Given the description of an element on the screen output the (x, y) to click on. 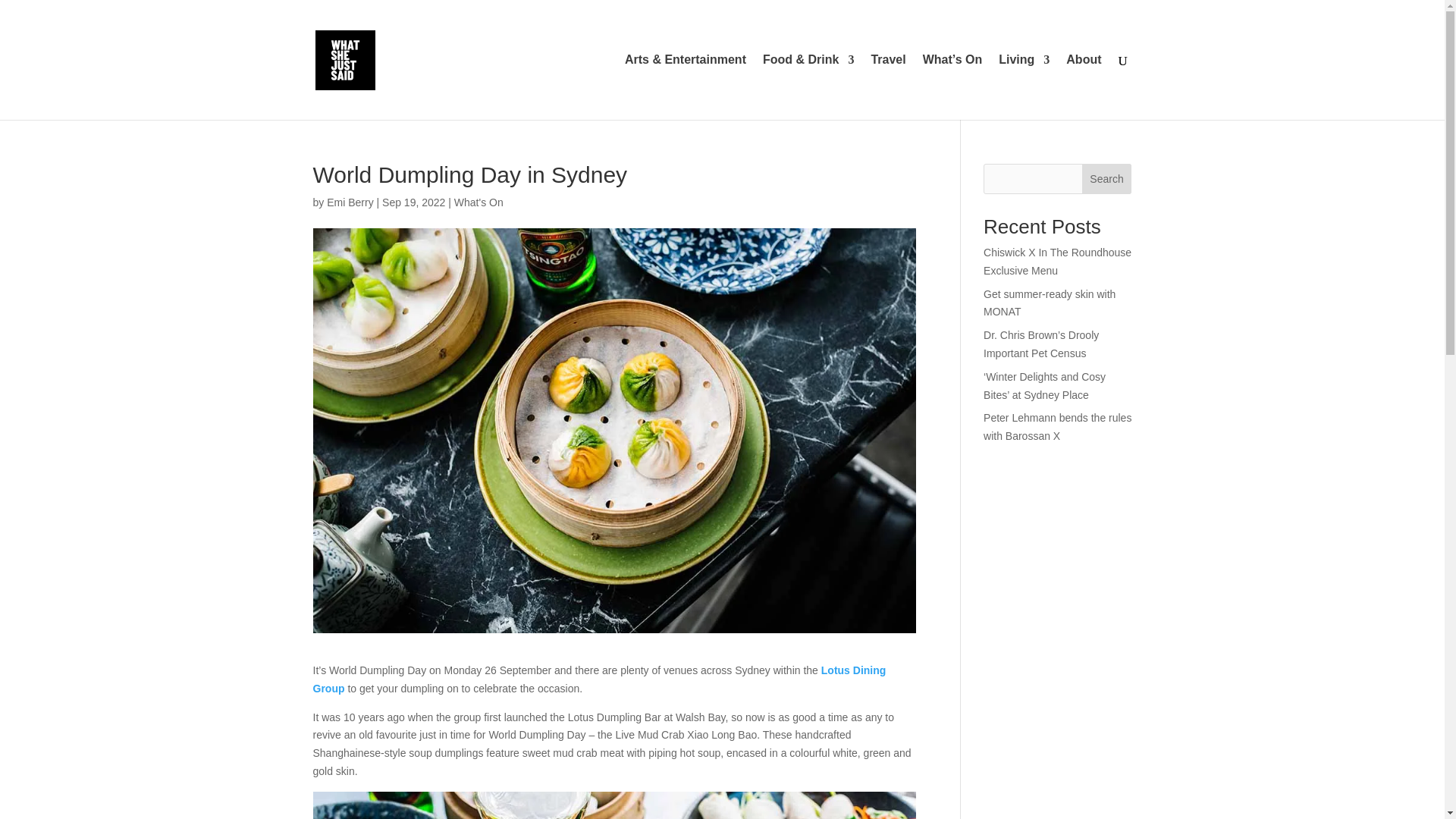
Emi Berry (349, 202)
Posts by Emi Berry (349, 202)
Lotus Dining Group (599, 679)
What's On (478, 202)
Peter Lehmann bends the rules with Barossan X (1057, 426)
Chiswick X In The Roundhouse Exclusive Menu (1057, 261)
Get summer-ready skin with MONAT (1049, 303)
Search (1106, 178)
